Given the description of an element on the screen output the (x, y) to click on. 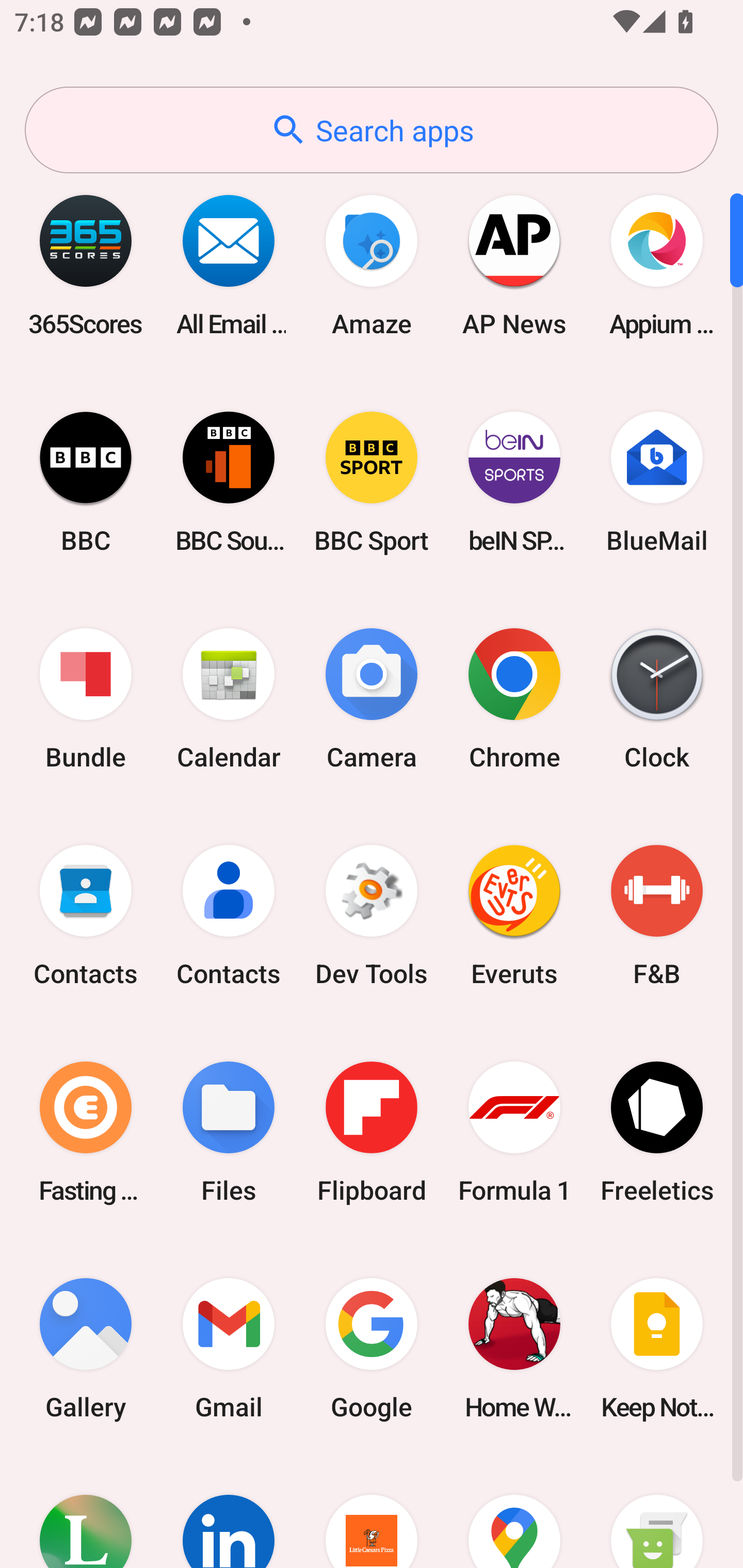
  Search apps (371, 130)
365Scores (85, 264)
All Email Connect (228, 264)
Amaze (371, 264)
AP News (514, 264)
Appium Settings (656, 264)
BBC (85, 482)
BBC Sounds (228, 482)
BBC Sport (371, 482)
beIN SPORTS (514, 482)
BlueMail (656, 482)
Bundle (85, 699)
Calendar (228, 699)
Camera (371, 699)
Chrome (514, 699)
Clock (656, 699)
Contacts (85, 915)
Contacts (228, 915)
Dev Tools (371, 915)
Everuts (514, 915)
F&B (656, 915)
Fasting Coach (85, 1131)
Files (228, 1131)
Flipboard (371, 1131)
Formula 1 (514, 1131)
Freeletics (656, 1131)
Gallery (85, 1348)
Gmail (228, 1348)
Google (371, 1348)
Home Workout (514, 1348)
Keep Notes (656, 1348)
Lifesum (85, 1512)
LinkedIn (228, 1512)
Little Caesars Pizza (371, 1512)
Maps (514, 1512)
Messaging (656, 1512)
